Given the description of an element on the screen output the (x, y) to click on. 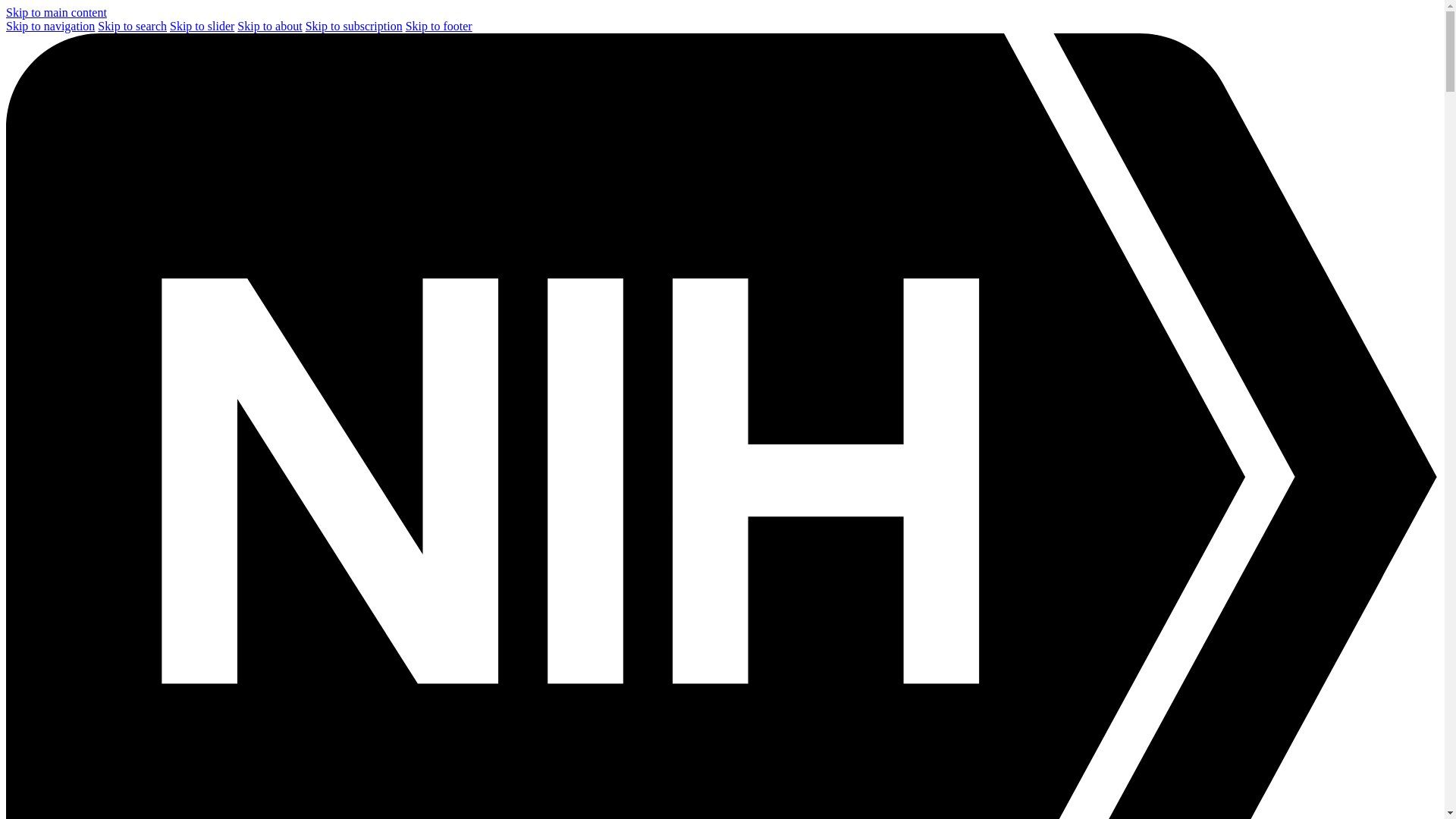
Skip to footer (438, 25)
Skip to slider (202, 25)
Skip to main content (55, 11)
Skip to search (132, 25)
Skip to about (269, 25)
Skip to subscription (354, 25)
Skip to navigation (49, 25)
